Given the description of an element on the screen output the (x, y) to click on. 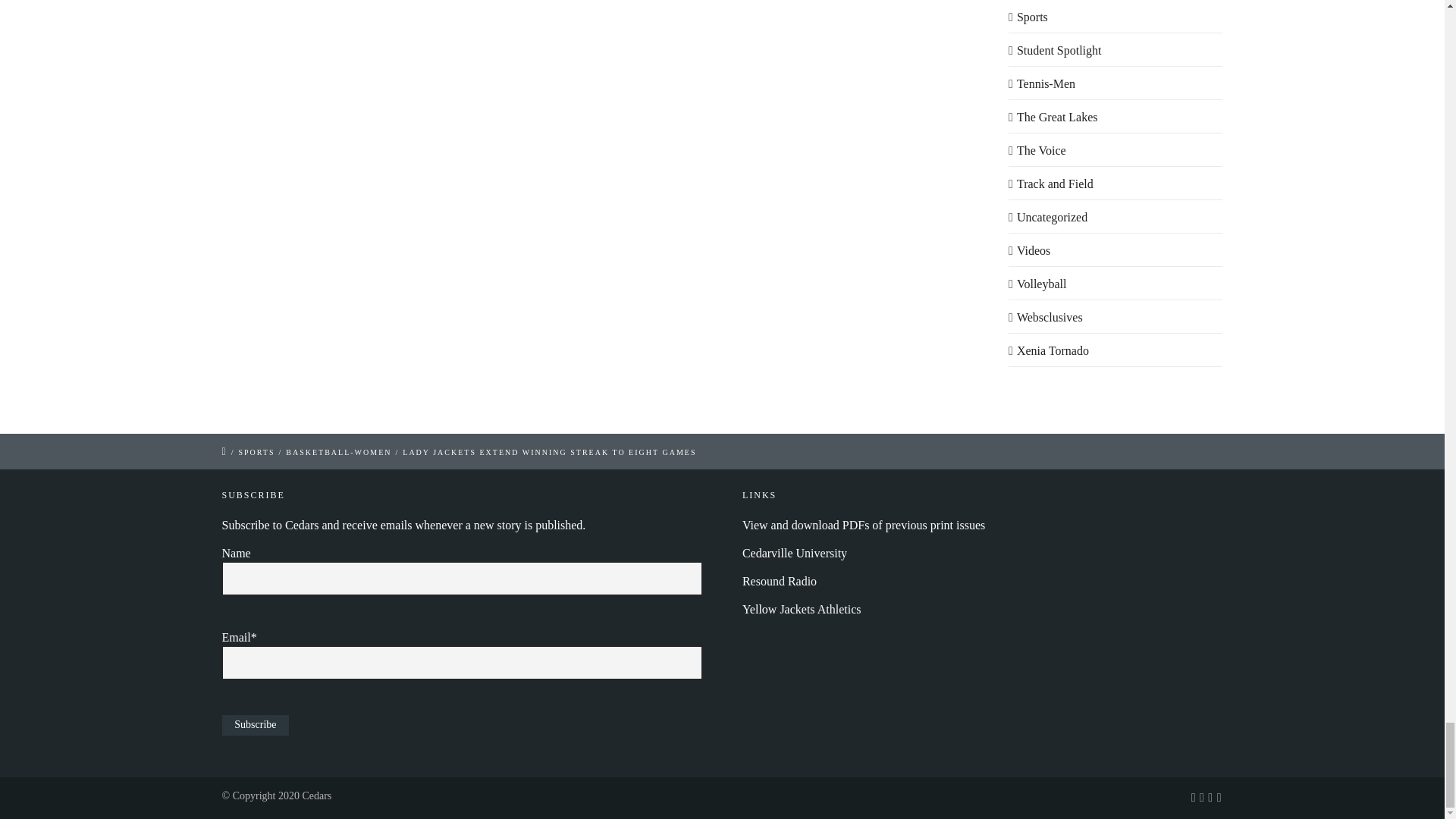
Subscribe (254, 724)
Resound Radio (779, 581)
Previous issues (863, 524)
Cedarville University (794, 553)
Yellow Jackets Athletics (801, 608)
